Given the description of an element on the screen output the (x, y) to click on. 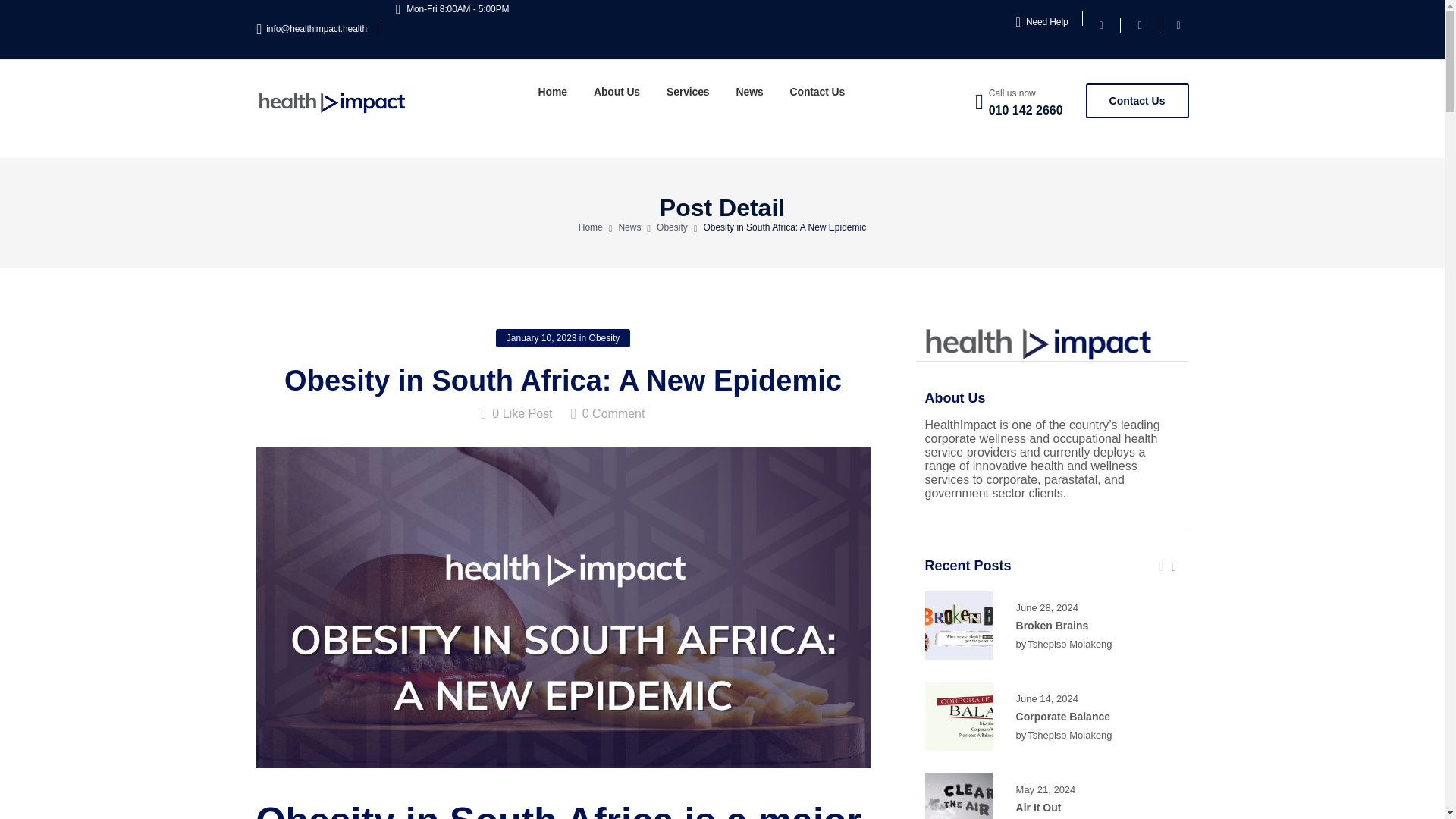
Need Help (1042, 21)
News (750, 91)
instagram (1177, 25)
Services (688, 91)
Air It Out (1038, 807)
Contact Us (1137, 100)
facebook (1100, 25)
Obesity (671, 239)
June 28, 2024 (1047, 608)
Home (553, 91)
Tshepiso Molakeng (1069, 644)
Contact Us (818, 91)
Home (590, 241)
Broken Brains (1052, 625)
Corporate Balance (1062, 716)
